Given the description of an element on the screen output the (x, y) to click on. 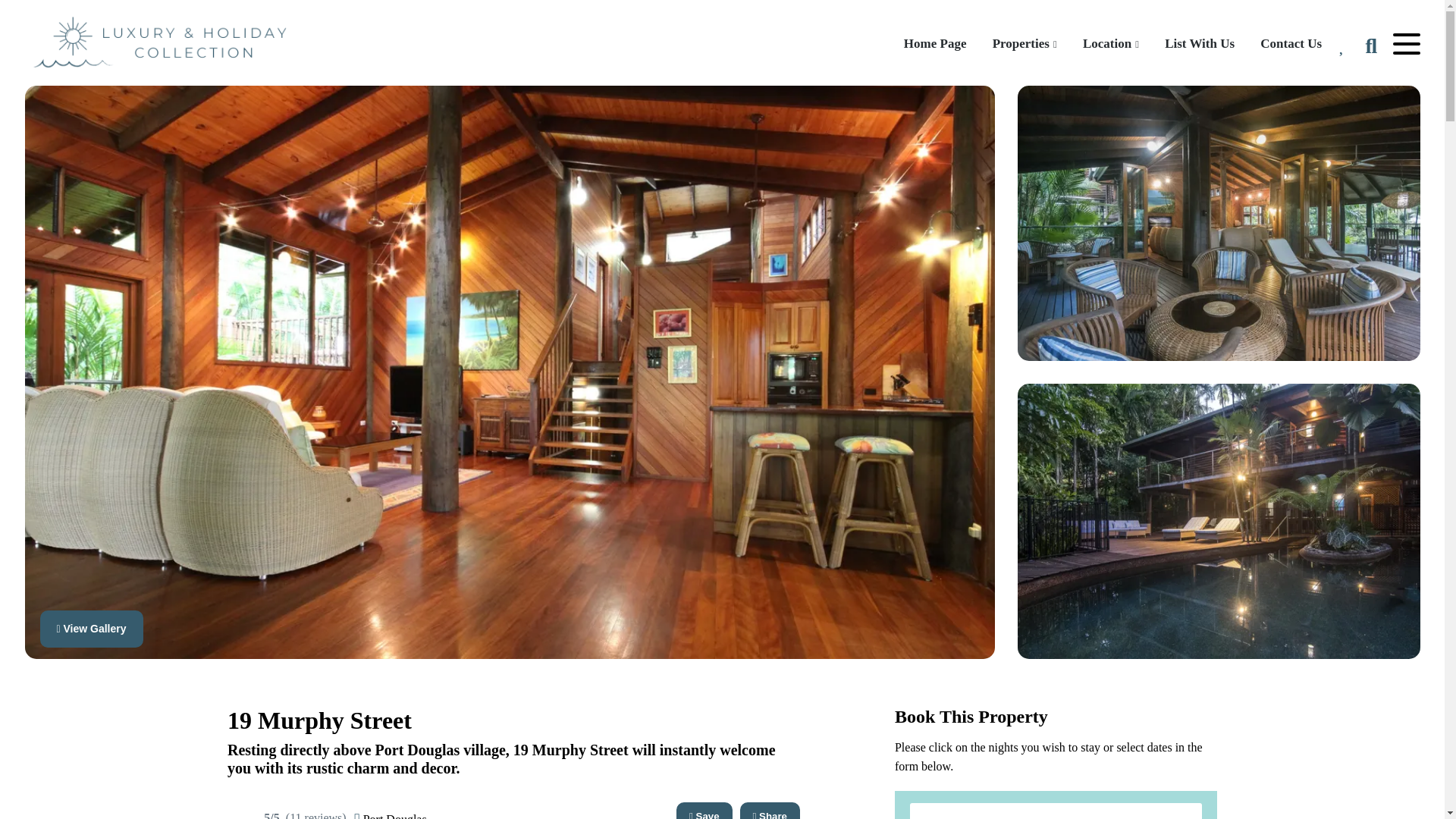
Properties (1024, 43)
List With Us (1199, 43)
Location (1110, 43)
Contact Us (1291, 43)
Home Page (935, 43)
View Gallery (94, 632)
